Given the description of an element on the screen output the (x, y) to click on. 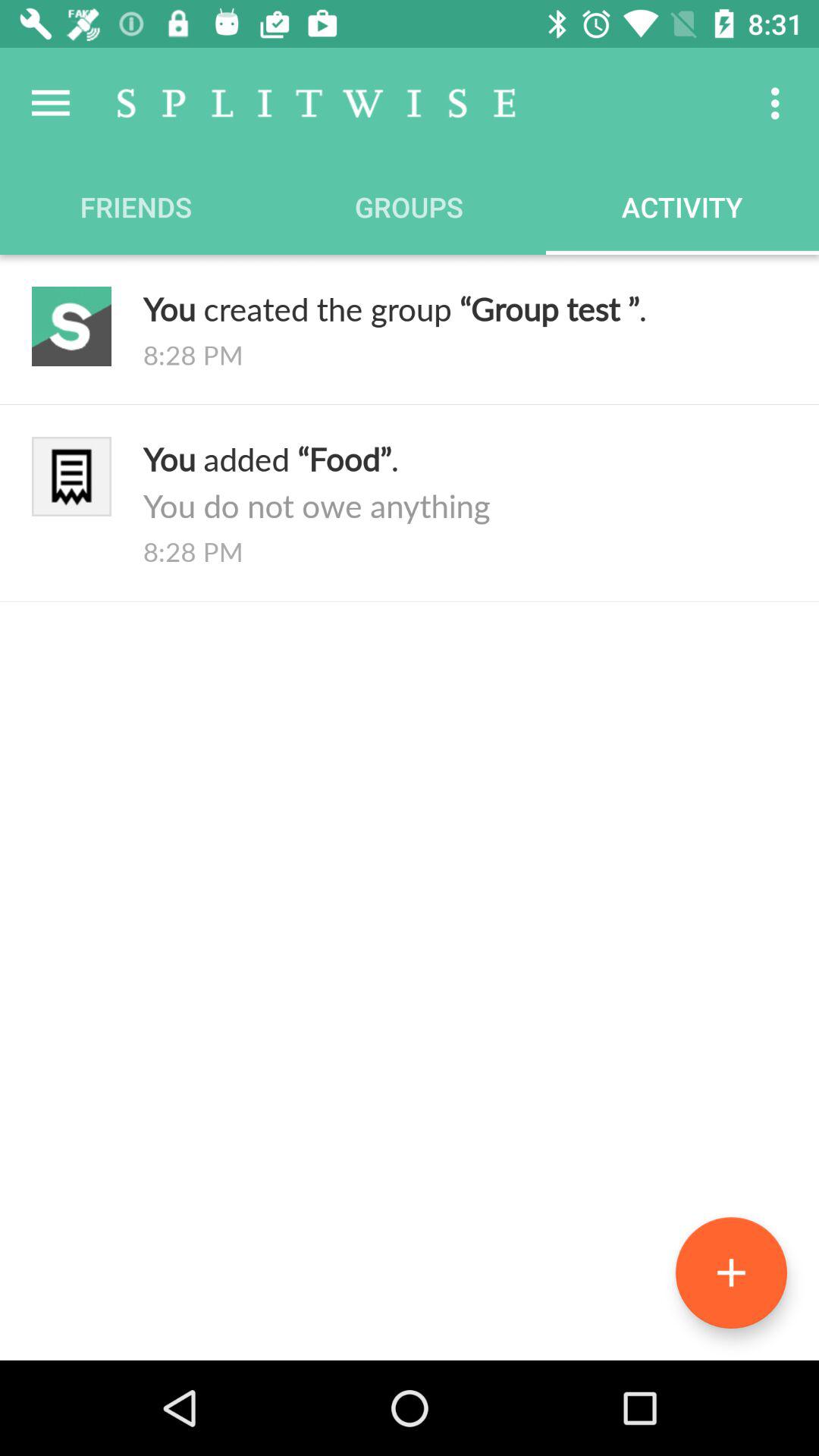
select the item below the activity item (465, 308)
